Given the description of an element on the screen output the (x, y) to click on. 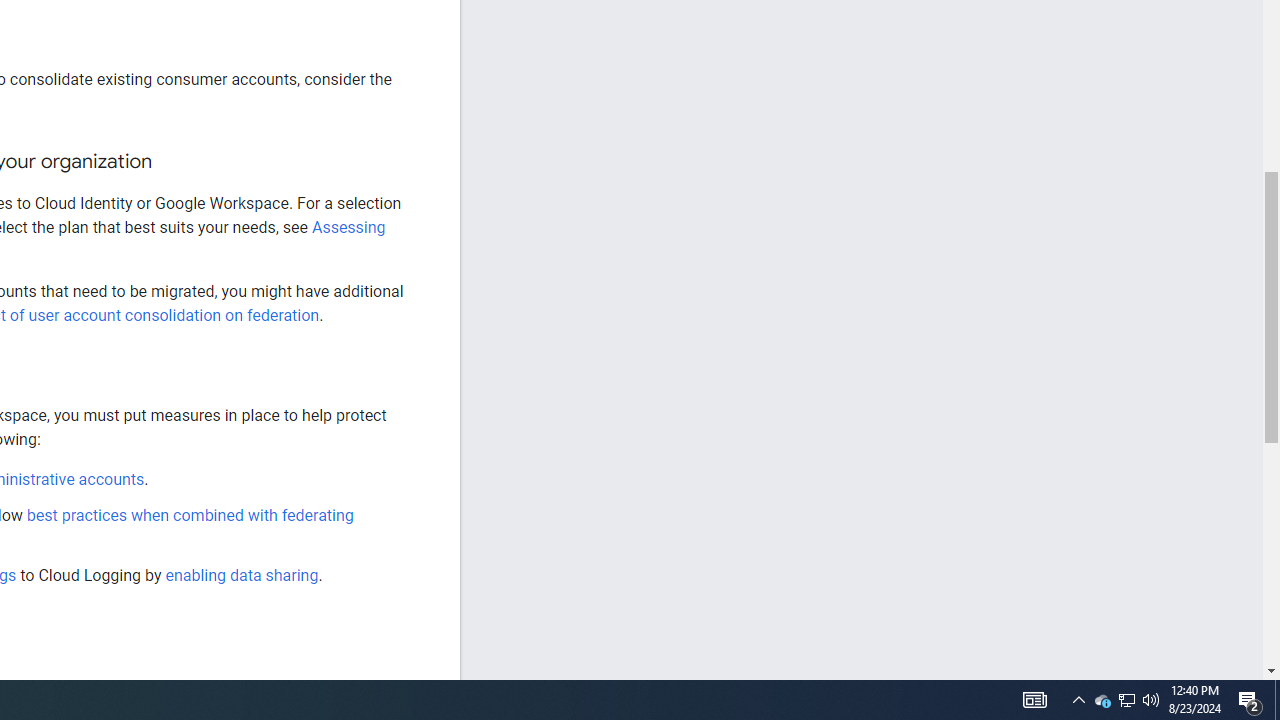
enabling data sharing (241, 574)
